Given the description of an element on the screen output the (x, y) to click on. 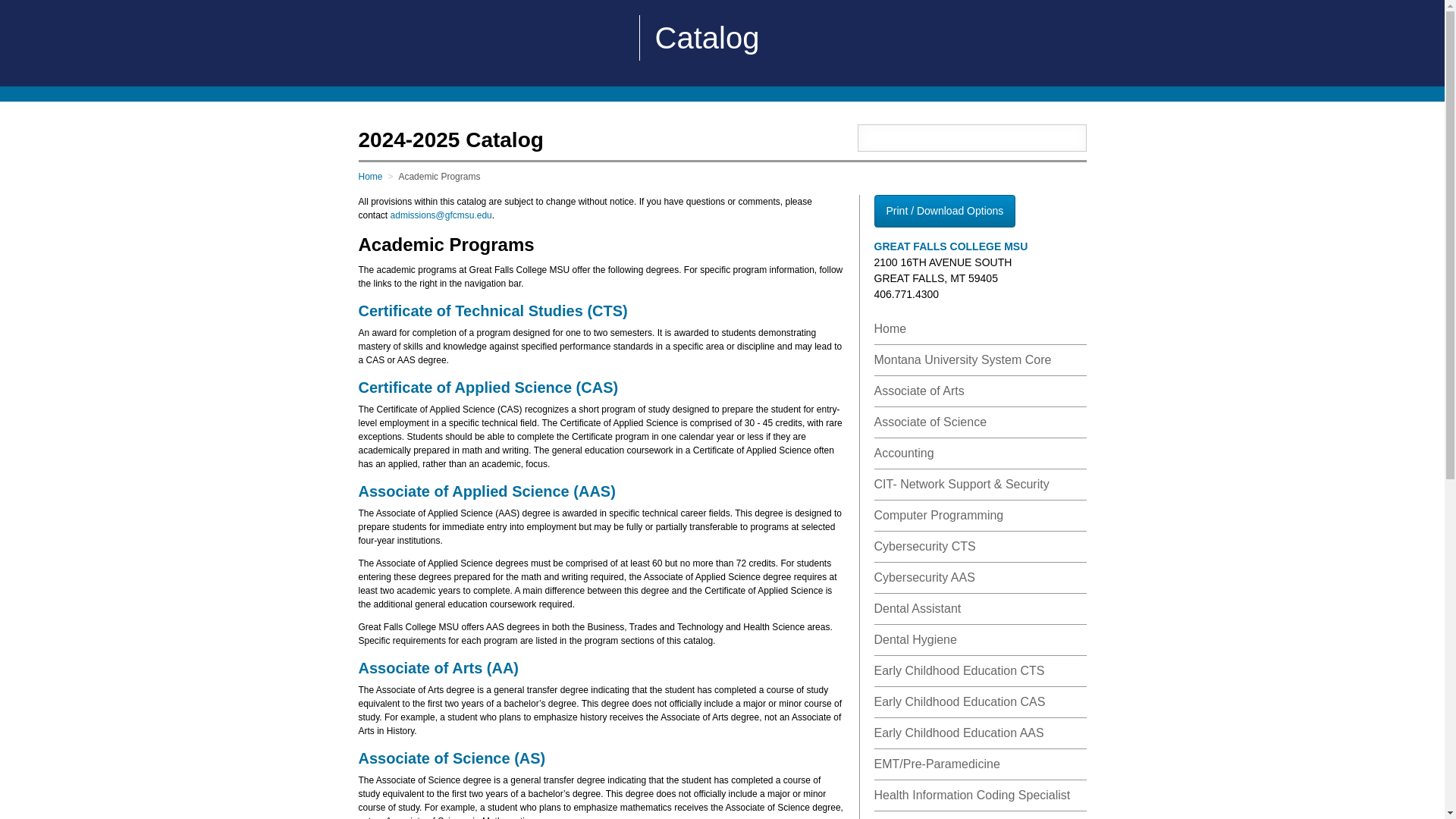
Early Childhood Education CAS (959, 701)
Associate of Science (930, 421)
Dental Assistant (916, 608)
Home (889, 328)
Search (1072, 136)
Search Catalog (956, 137)
Associate of Arts (918, 390)
Cybersecurity AAS (923, 576)
Dental Hygiene (914, 639)
Search (1072, 136)
